Given the description of an element on the screen output the (x, y) to click on. 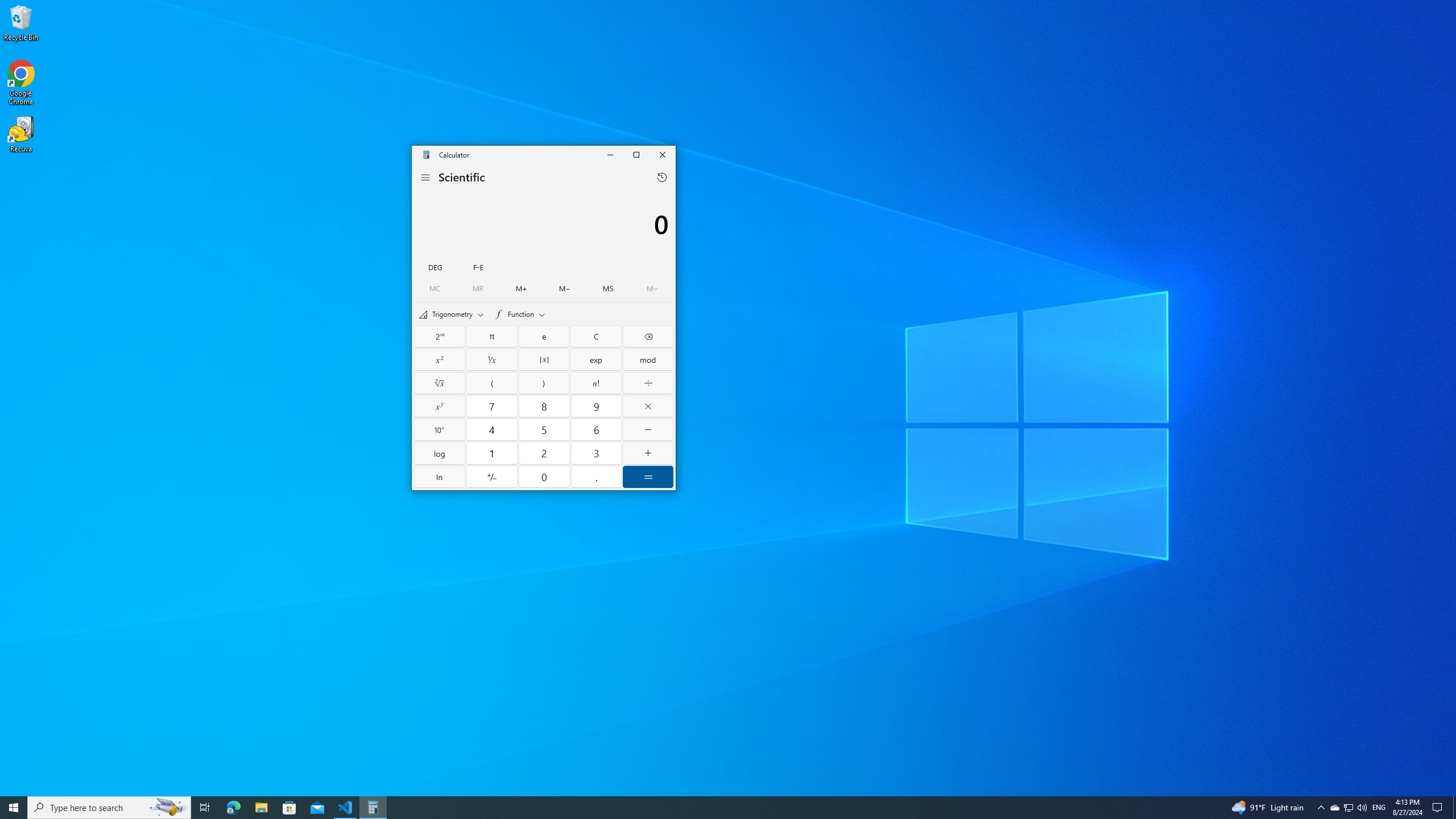
Seven (490, 406)
Modulo (647, 359)
Scientific notation (478, 265)
Nine (595, 406)
Equals (647, 477)
Trigonometry (451, 314)
Decimal separator (595, 477)
Memory subtract (564, 288)
Reciprocal (490, 359)
Left parenthesis (490, 382)
Zero (543, 477)
'X' to the exponent (439, 406)
Divide by (647, 382)
